Given the description of an element on the screen output the (x, y) to click on. 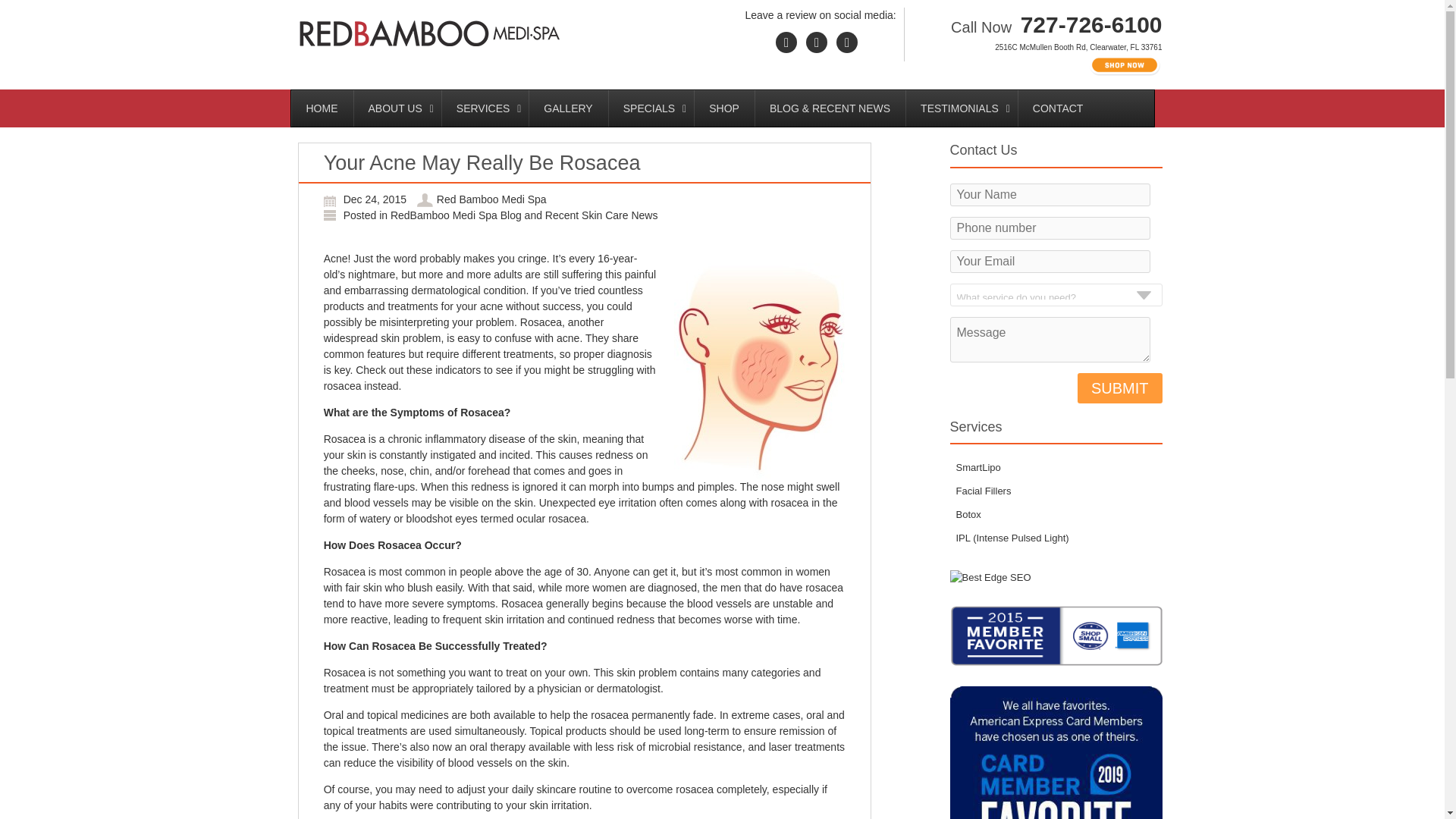
instagram (847, 42)
TESTIMONIALS (961, 108)
SHOP (724, 108)
facebook (785, 42)
youtube (816, 42)
GALLERY (567, 108)
Submit (1119, 388)
2516C McMullen Booth Rd, Clearwater, FL 33761 (1077, 47)
CONTACT (1058, 108)
RedBamboo Medi Spa Blog and Recent Skin Care News (524, 215)
